Given the description of an element on the screen output the (x, y) to click on. 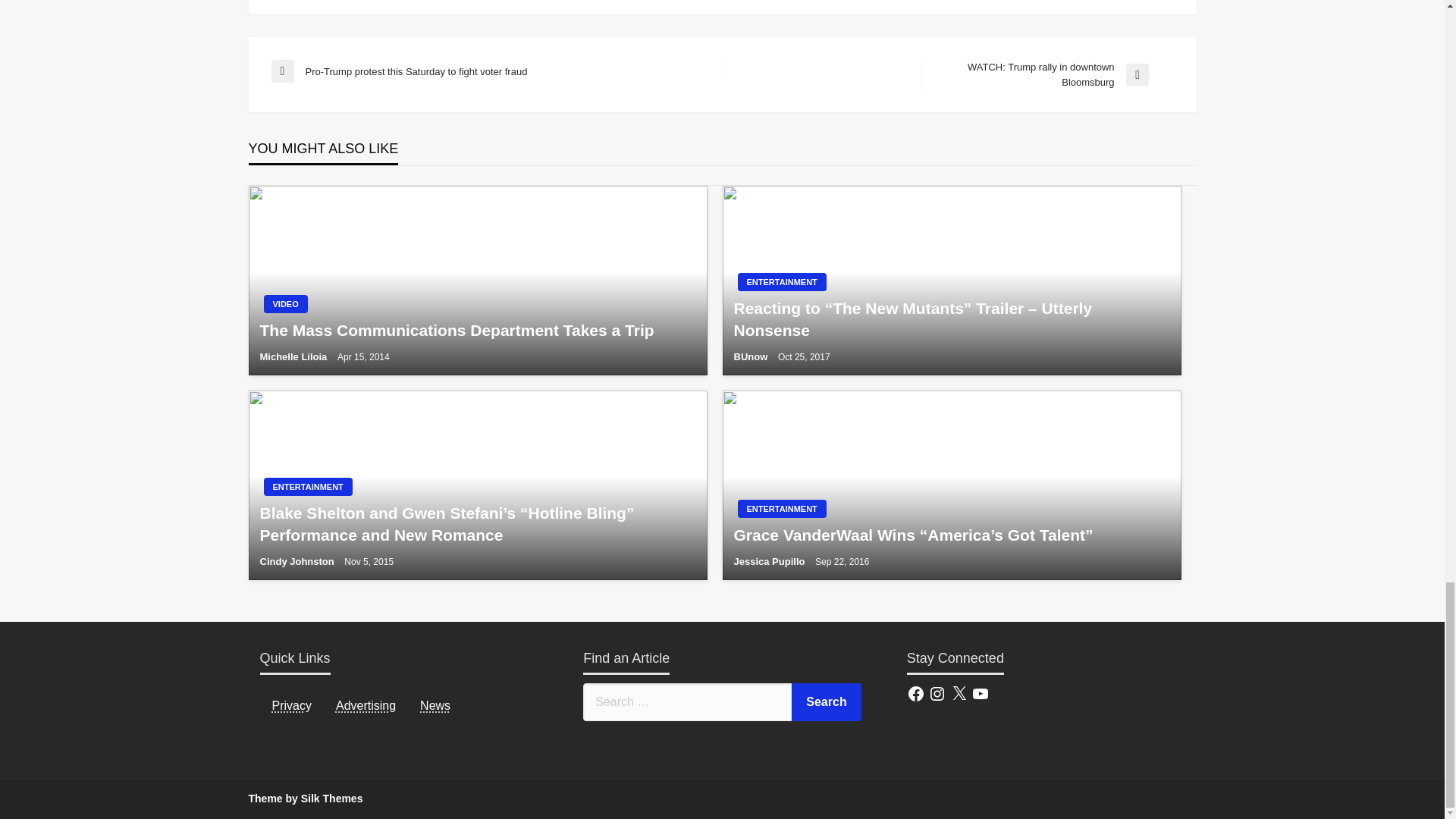
Search (826, 702)
Search (826, 702)
